Given the description of an element on the screen output the (x, y) to click on. 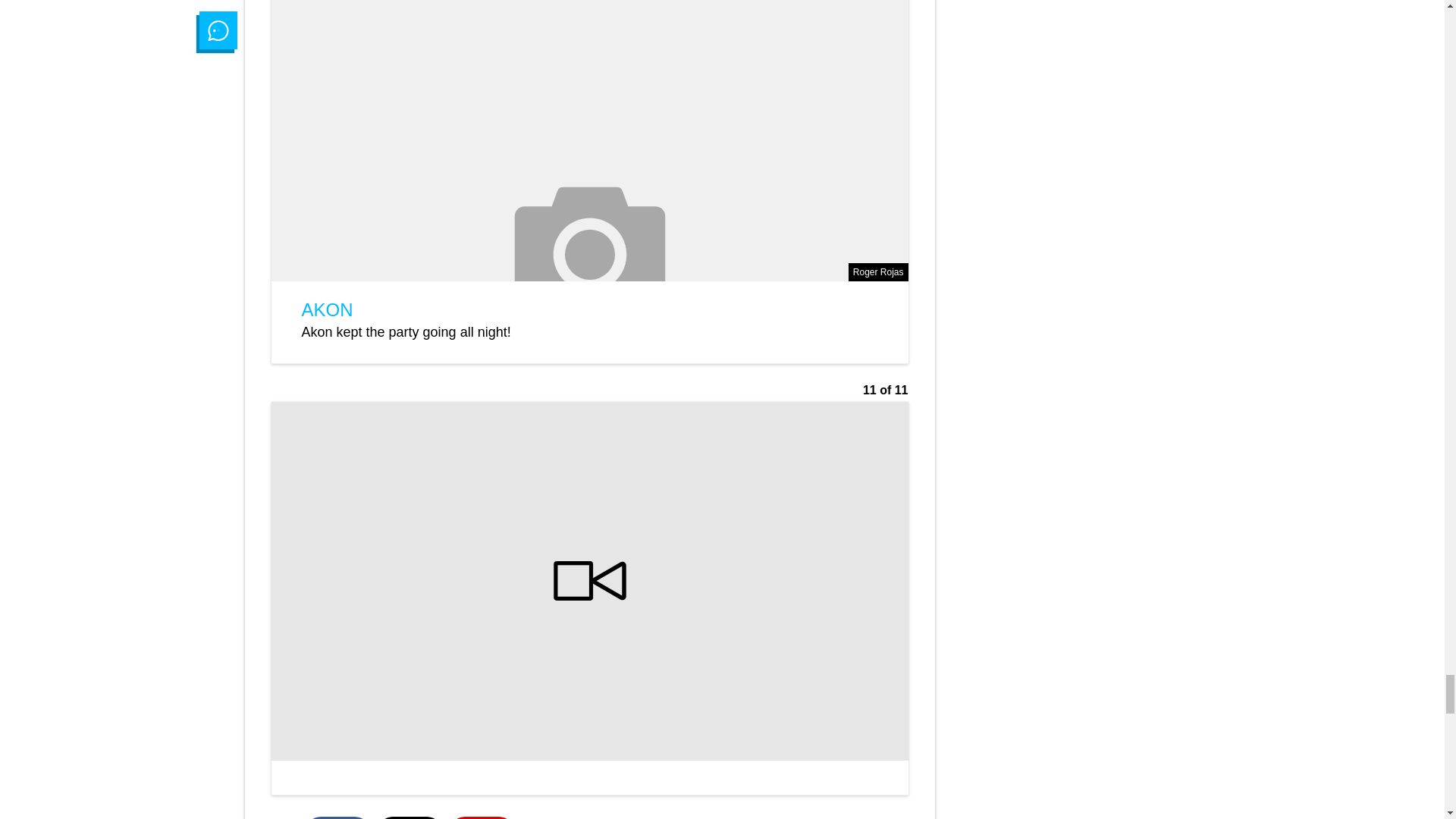
Click to share on Twitter (409, 817)
Click to share on Facebook (336, 817)
Click to share on Pinterest (480, 817)
